Given the description of an element on the screen output the (x, y) to click on. 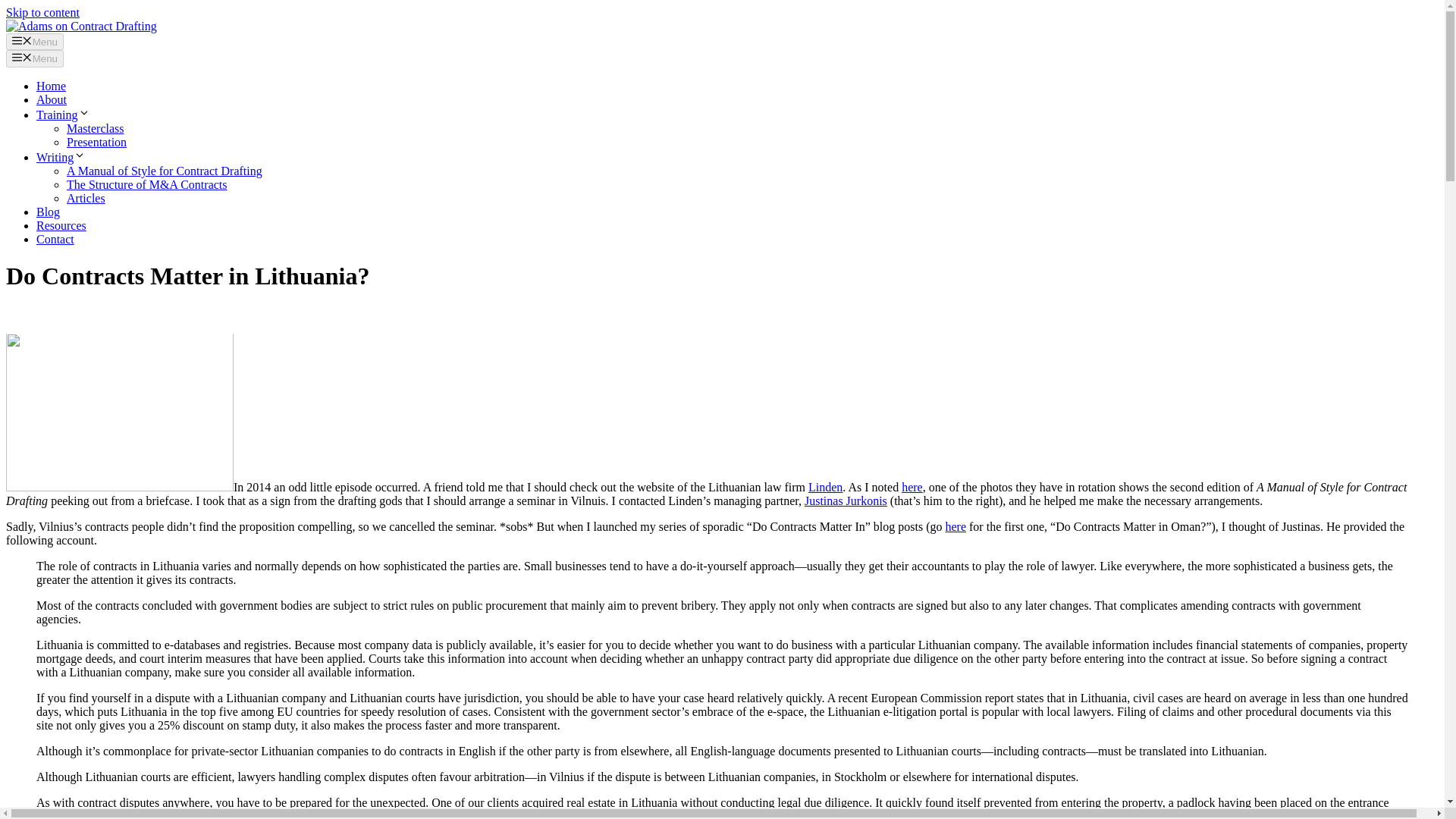
Skip to content (42, 11)
Home (50, 85)
Presentation (96, 141)
Writing (60, 156)
Articles (85, 197)
Contact (55, 238)
Linden (825, 486)
Justinas Jurkonis (845, 500)
View all posts by Ken Adams (231, 313)
here (955, 526)
